Given the description of an element on the screen output the (x, y) to click on. 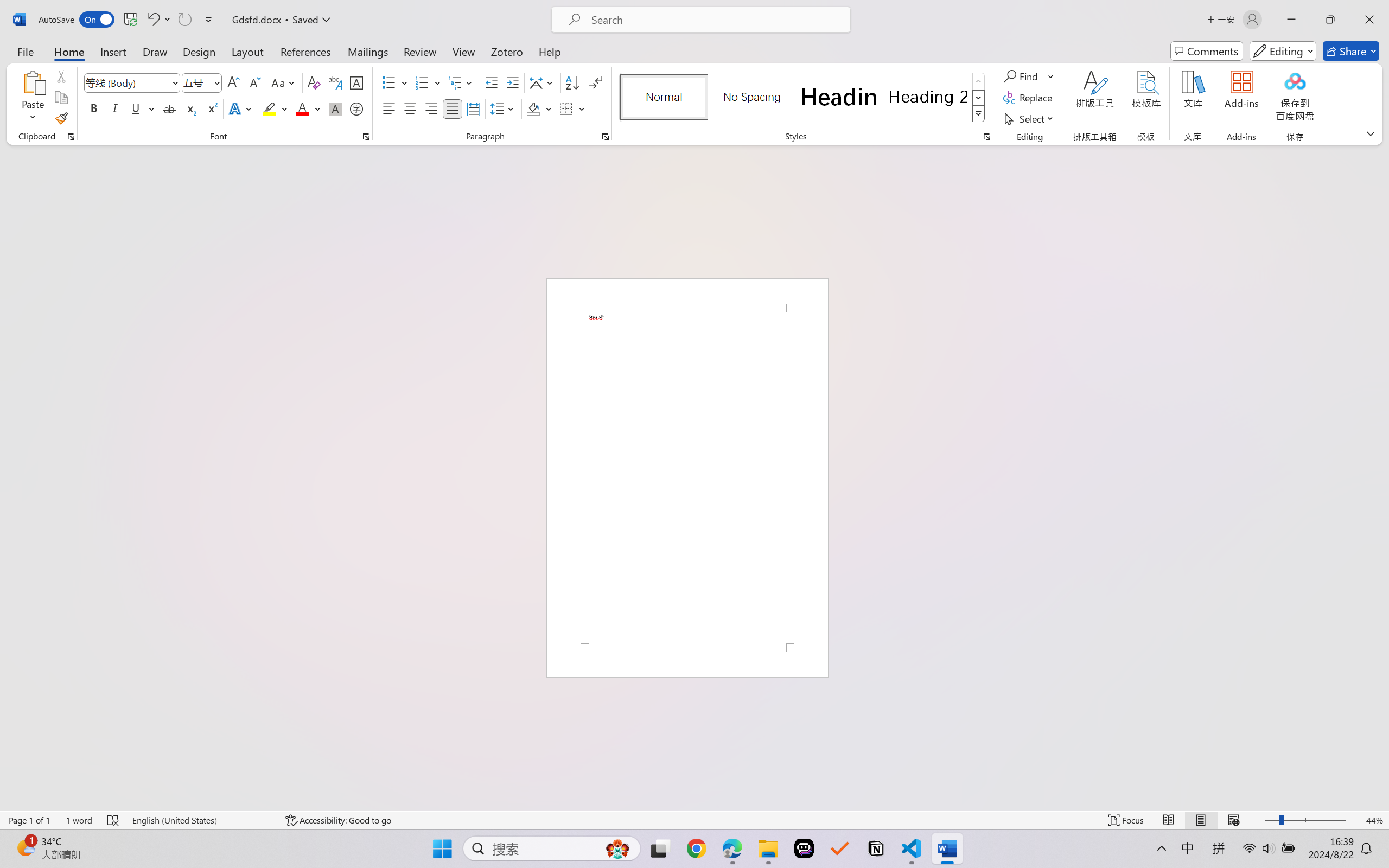
Spelling and Grammar Check Errors (113, 819)
Font Color Red (302, 108)
AutomationID: QuickStylesGallery (802, 97)
